Given the description of an element on the screen output the (x, y) to click on. 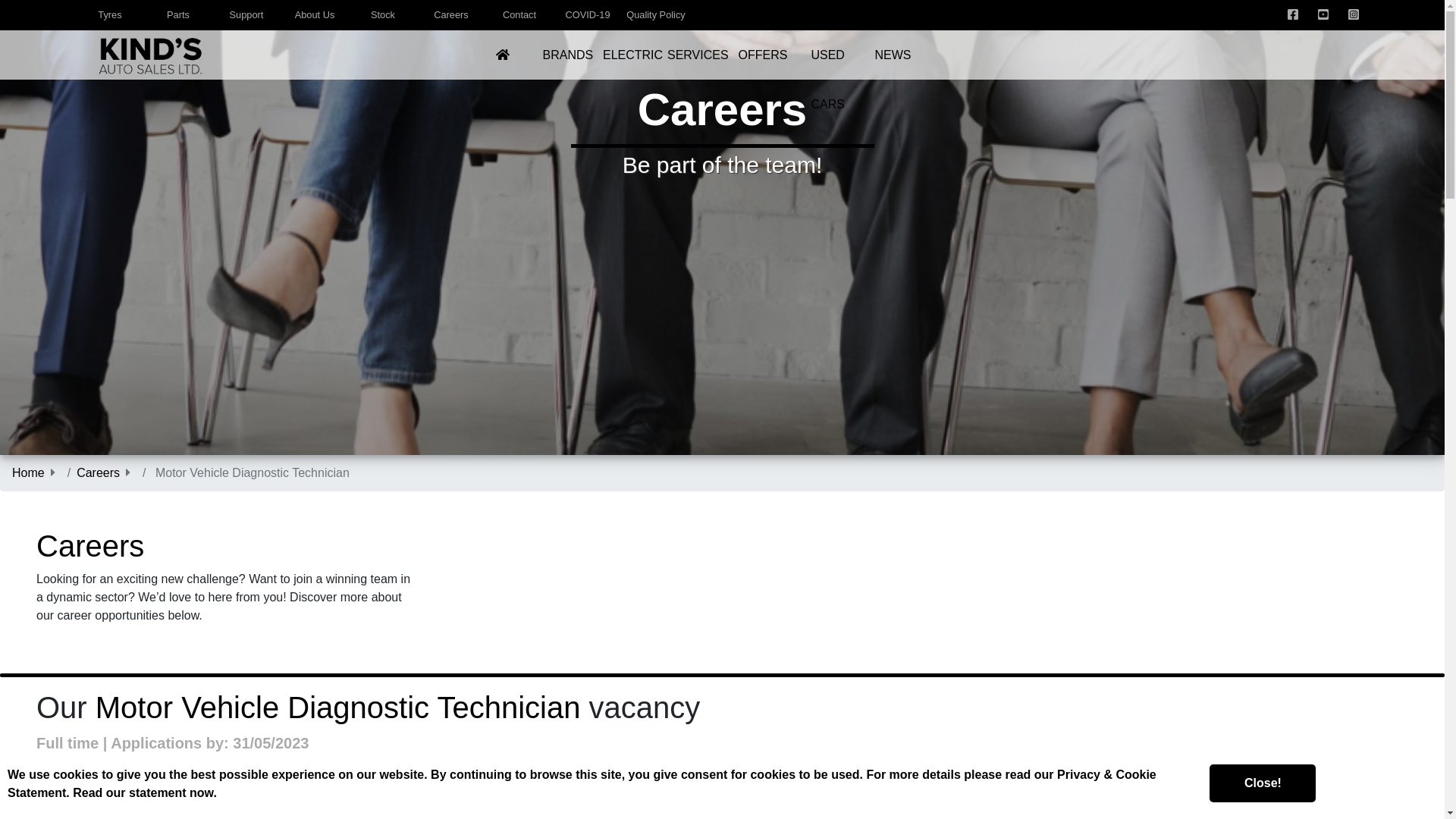
ELECTRIC (632, 54)
Tyres (108, 14)
NEWS (893, 54)
Contact (518, 14)
Careers (450, 14)
Support (246, 14)
Parts (178, 14)
OFFERS (762, 54)
COVID-19 (587, 14)
Home (28, 472)
